Given the description of an element on the screen output the (x, y) to click on. 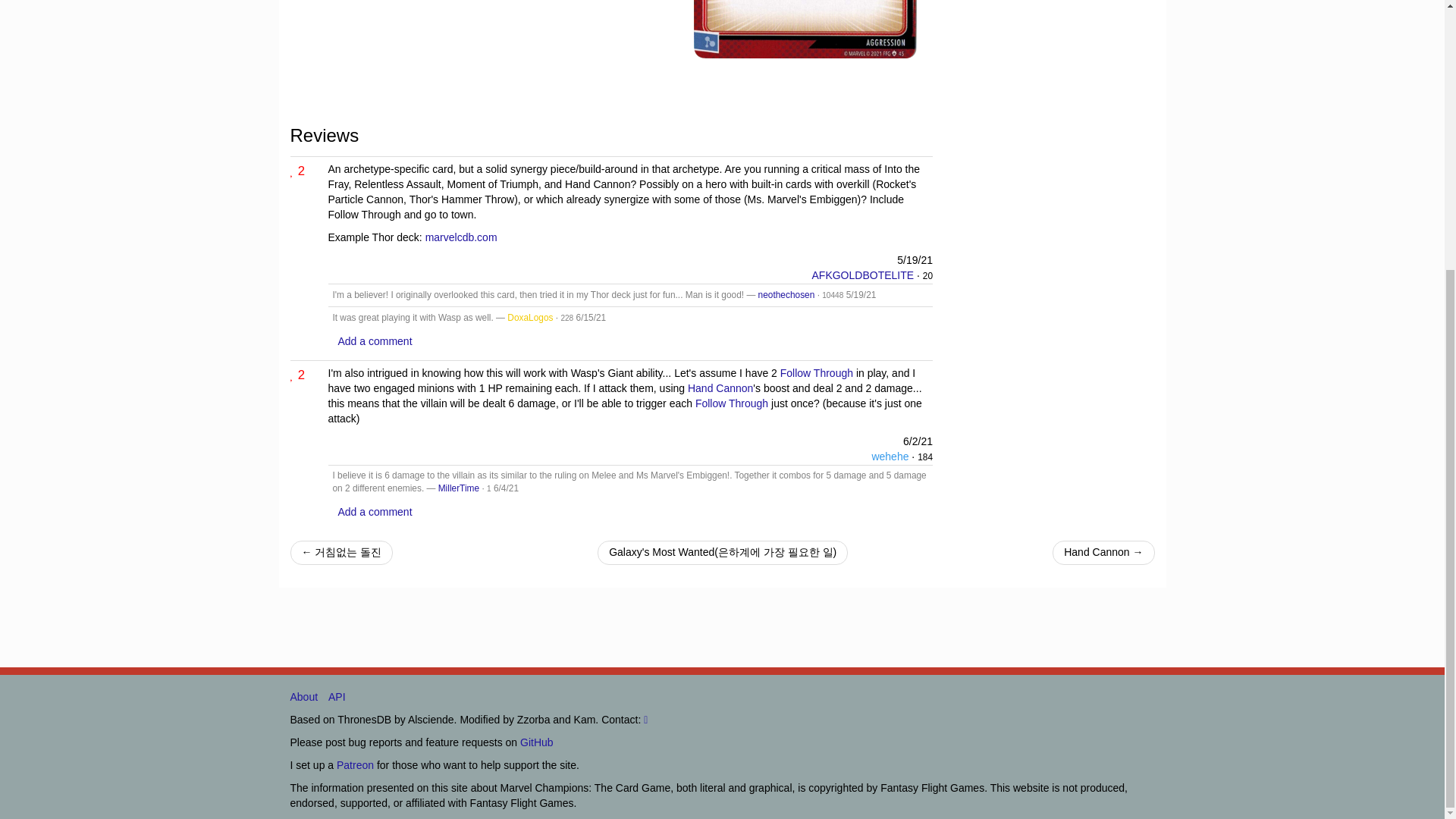
MillerTime (458, 488)
June 15th, 2021 (591, 317)
June 4th, 2021 (505, 488)
wehehe (889, 456)
Hand Cannon (719, 387)
neothechosen (786, 294)
User Reputation (566, 317)
User Reputation (928, 276)
Follow Through (816, 372)
AFKGOLDBOTELITE (862, 275)
